Given the description of an element on the screen output the (x, y) to click on. 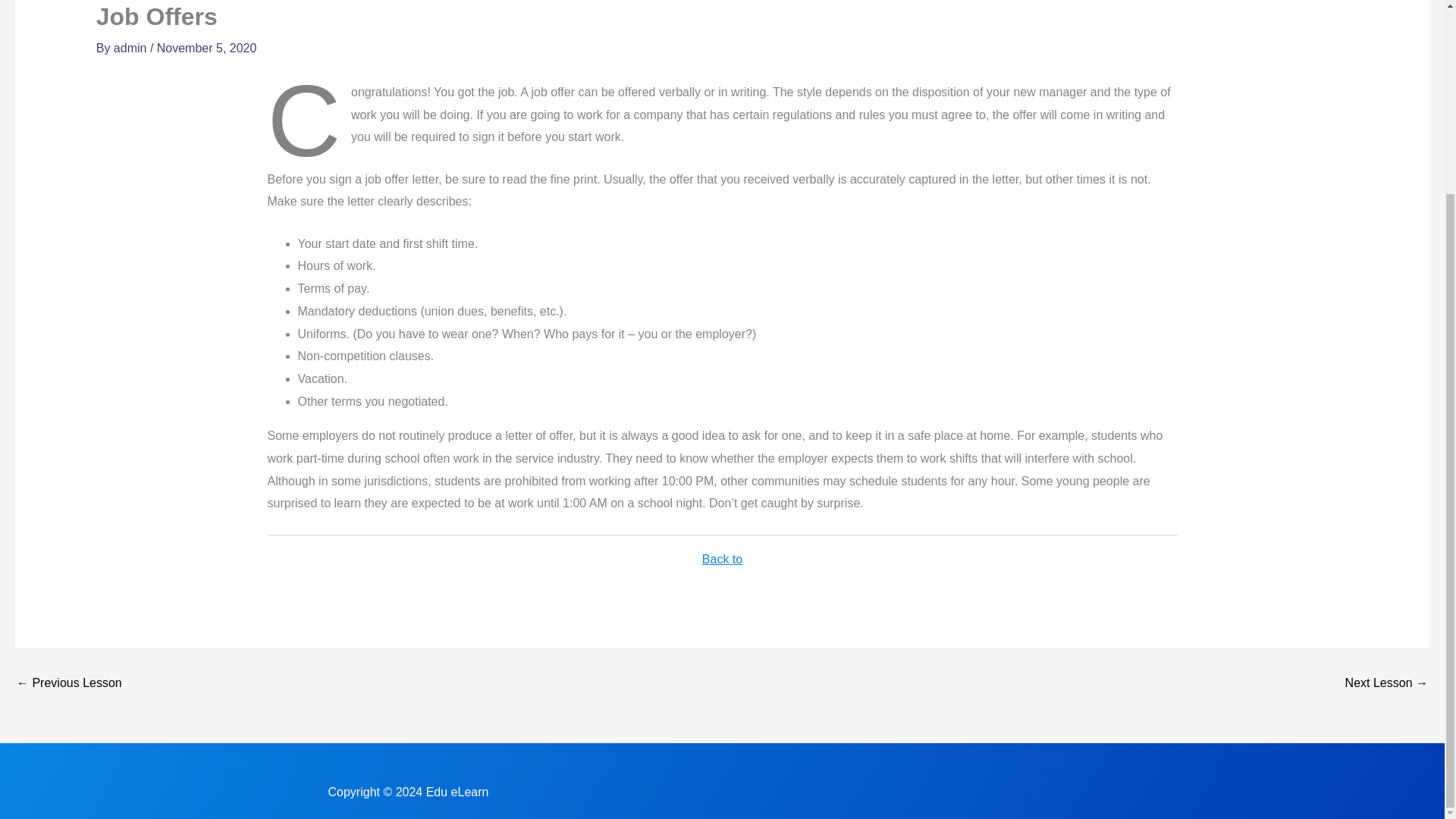
admin (131, 47)
Back to (722, 558)
Resignations (1386, 683)
View all posts by admin (131, 47)
